Given the description of an element on the screen output the (x, y) to click on. 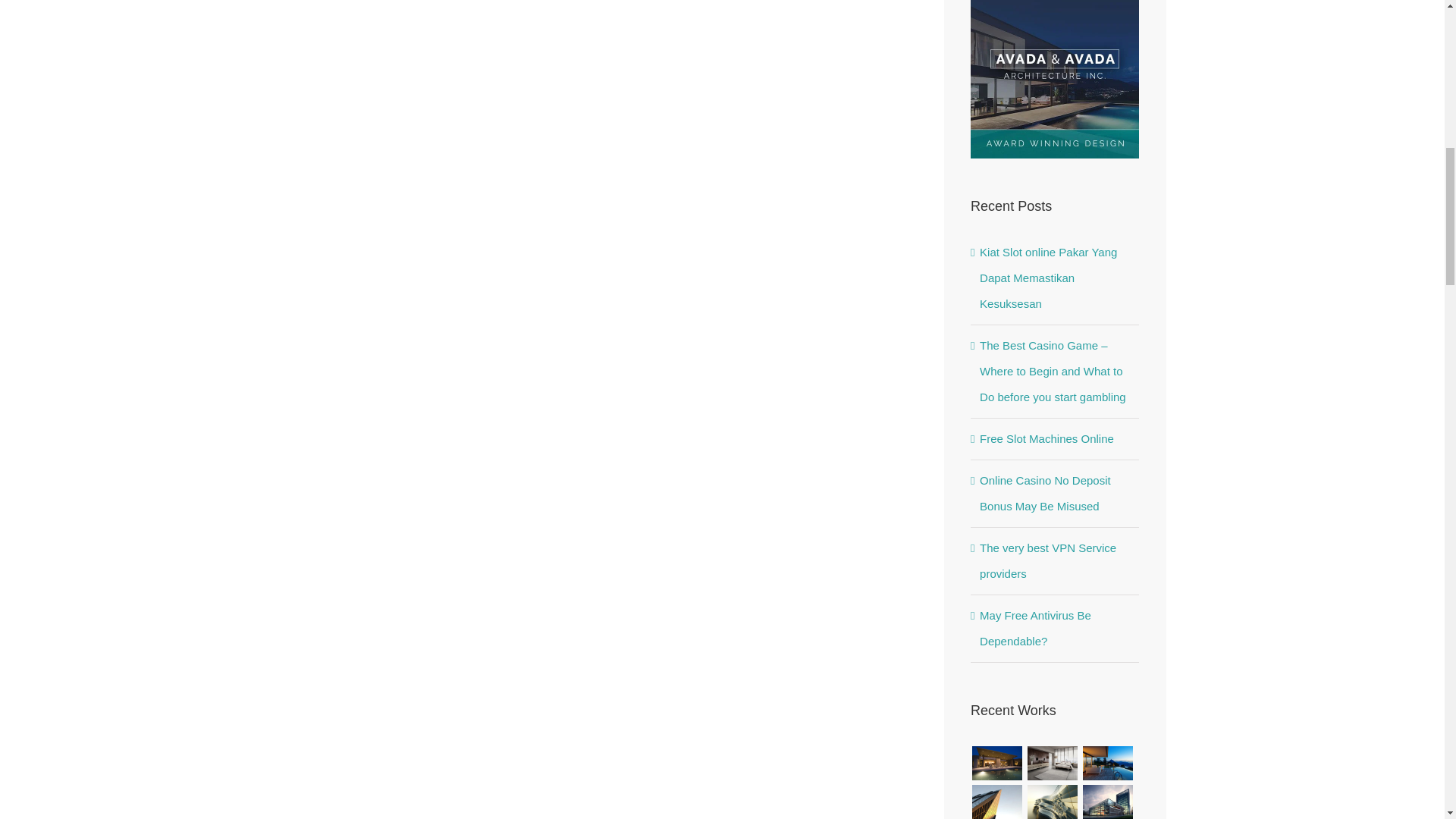
Danish Modernity (997, 800)
Manchester Airport (1107, 800)
Sunrise Avenue (997, 762)
St Lucia Sunsets (1107, 762)
West Shinjuku (1052, 800)
Singapore Skyrise (1052, 762)
